Given the description of an element on the screen output the (x, y) to click on. 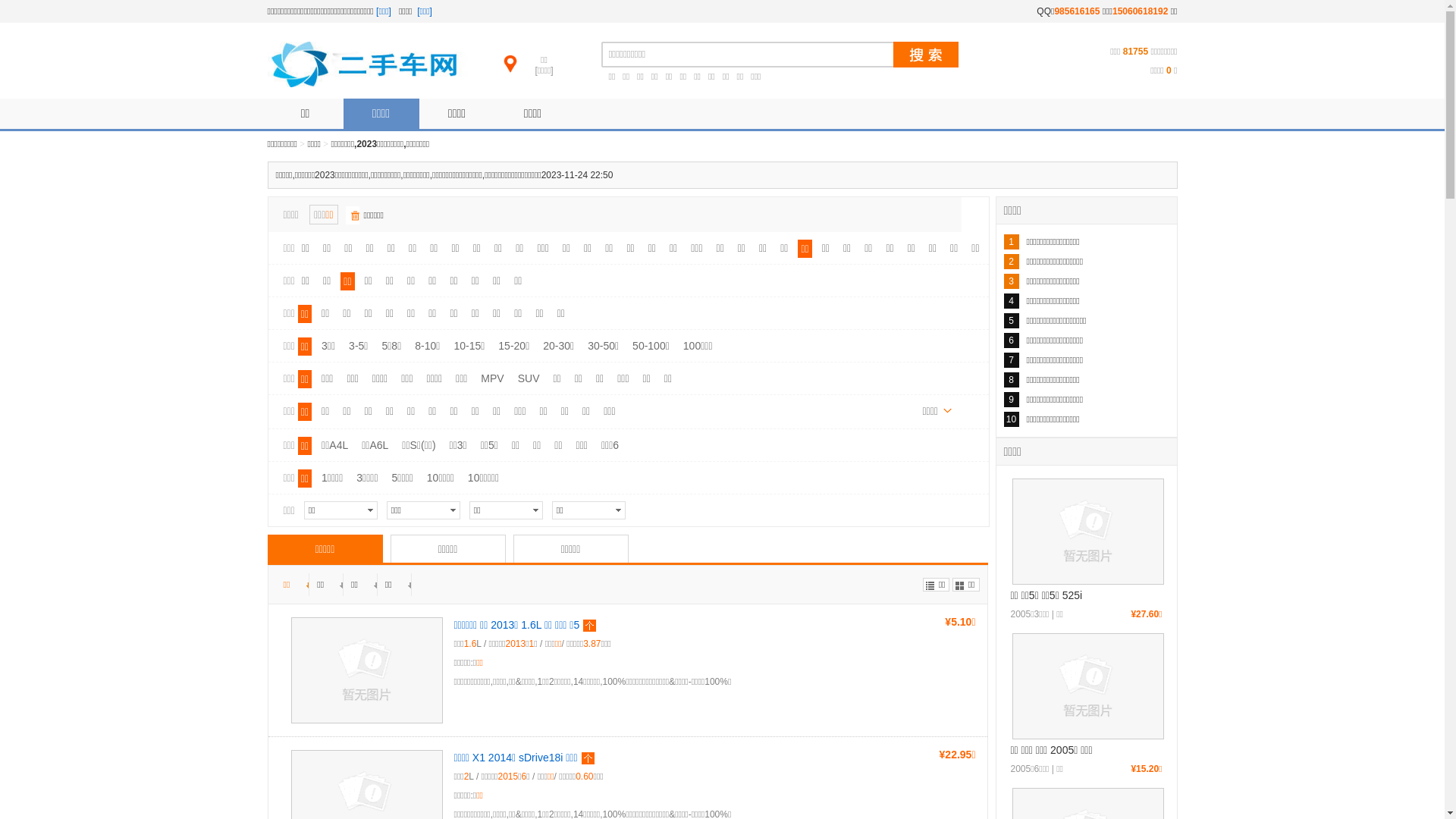
SUV Element type: text (528, 378)
985616165 Element type: text (1076, 11)
MPV Element type: text (491, 378)
